Given the description of an element on the screen output the (x, y) to click on. 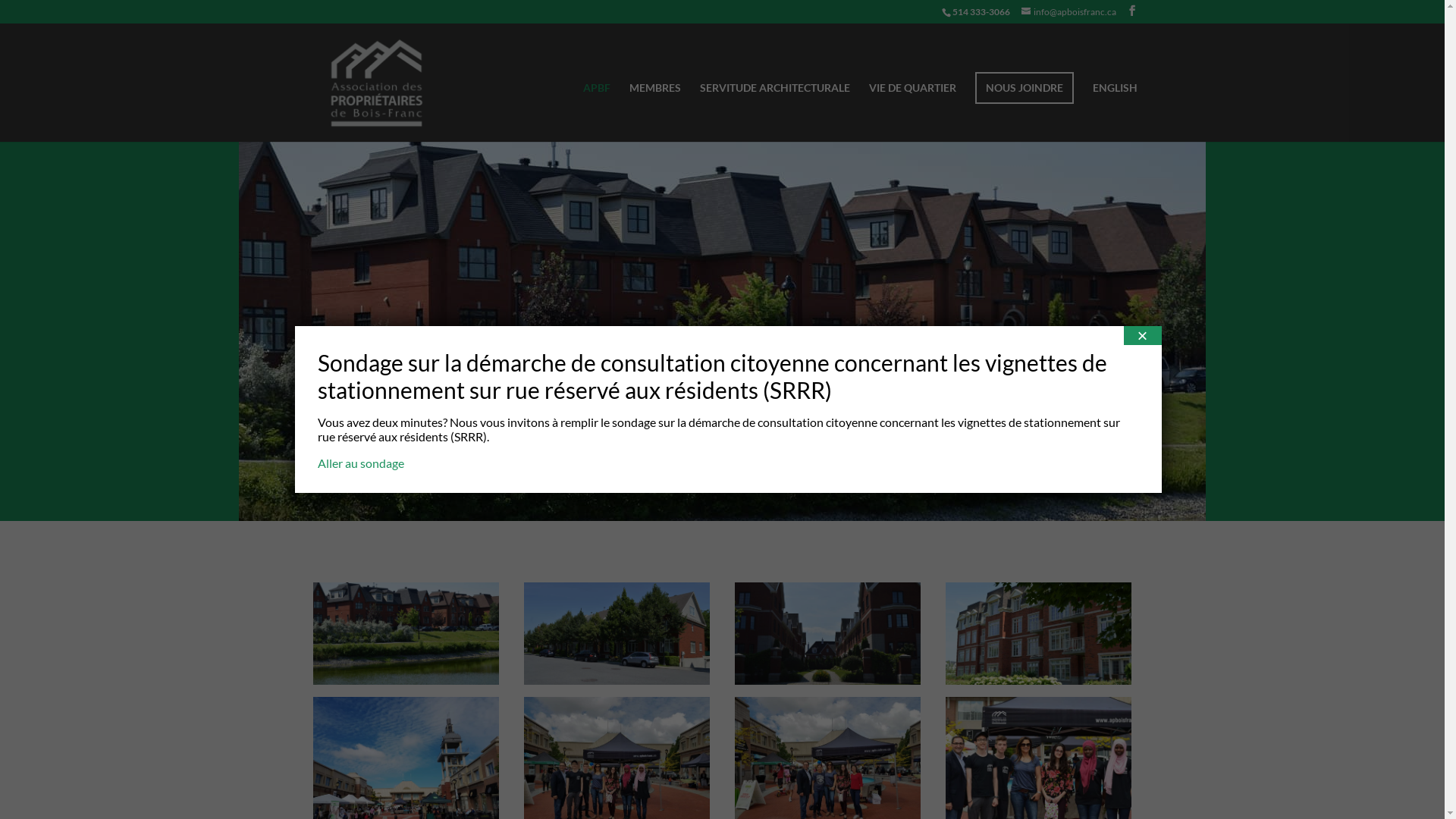
Aller au sondage Element type: text (359, 462)
NOUS JOINDRE Element type: text (1024, 87)
SERVITUDE ARCHITECTURALE Element type: text (774, 111)
VIE DE QUARTIER Element type: text (912, 111)
APBF Element type: text (596, 111)
info@apboisfranc.ca Element type: text (1068, 11)
ENGLISH Element type: text (1114, 111)
MEMBRES Element type: text (654, 111)
